Given the description of an element on the screen output the (x, y) to click on. 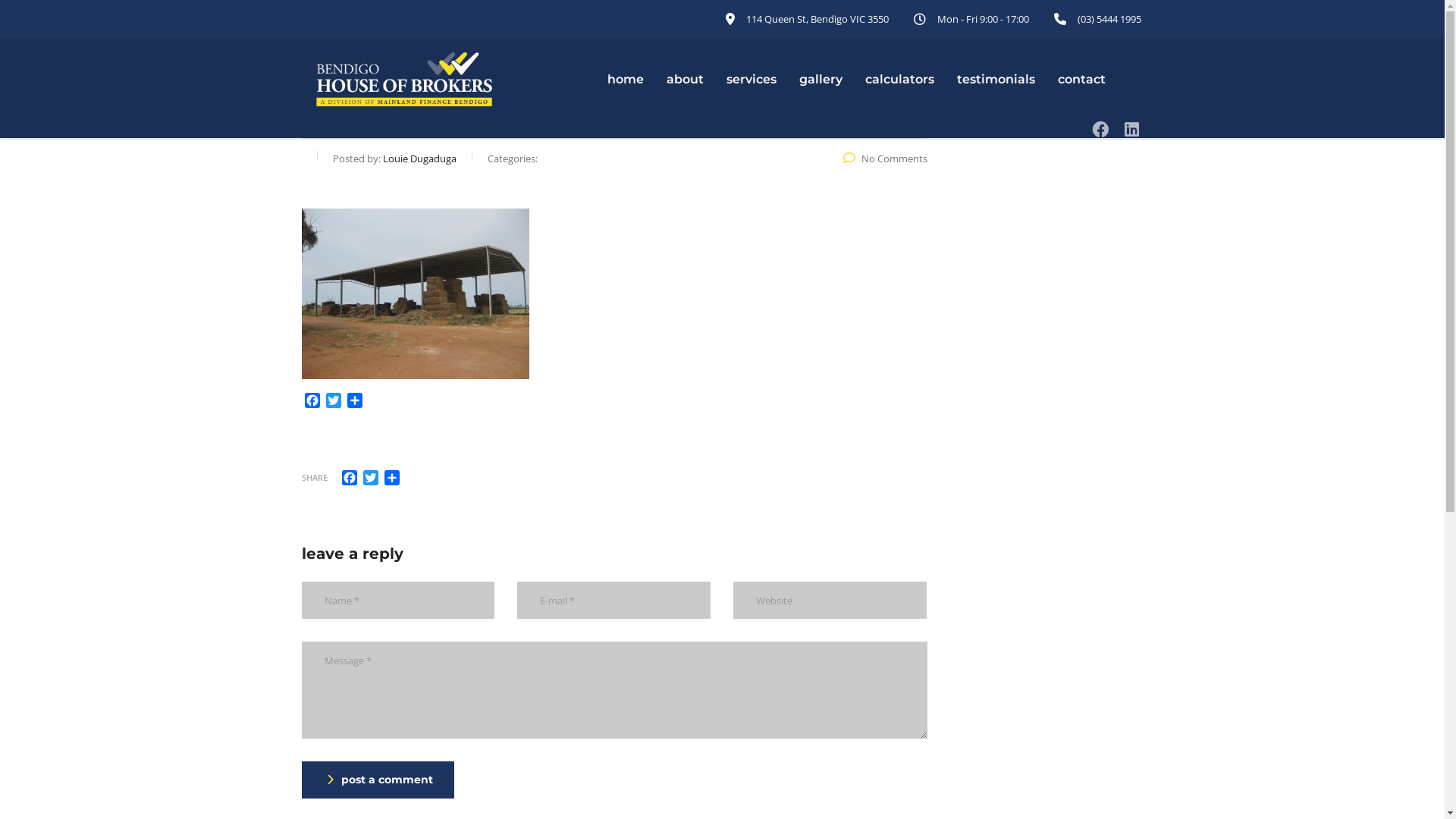
Twitter Element type: text (369, 477)
testimonials Element type: text (994, 79)
Twitter Element type: text (333, 401)
  Element type: text (1102, 129)
Facebook Element type: text (312, 401)
  Element type: text (1133, 129)
Facebook Element type: text (348, 477)
No Comments Element type: text (885, 158)
Share Element type: text (354, 401)
gallery Element type: text (820, 79)
services Element type: text (750, 79)
post a comment Element type: text (377, 779)
calculators Element type: text (899, 79)
home Element type: text (625, 79)
contact Element type: text (1081, 79)
Share Element type: text (390, 477)
about Element type: text (685, 79)
